Given the description of an element on the screen output the (x, y) to click on. 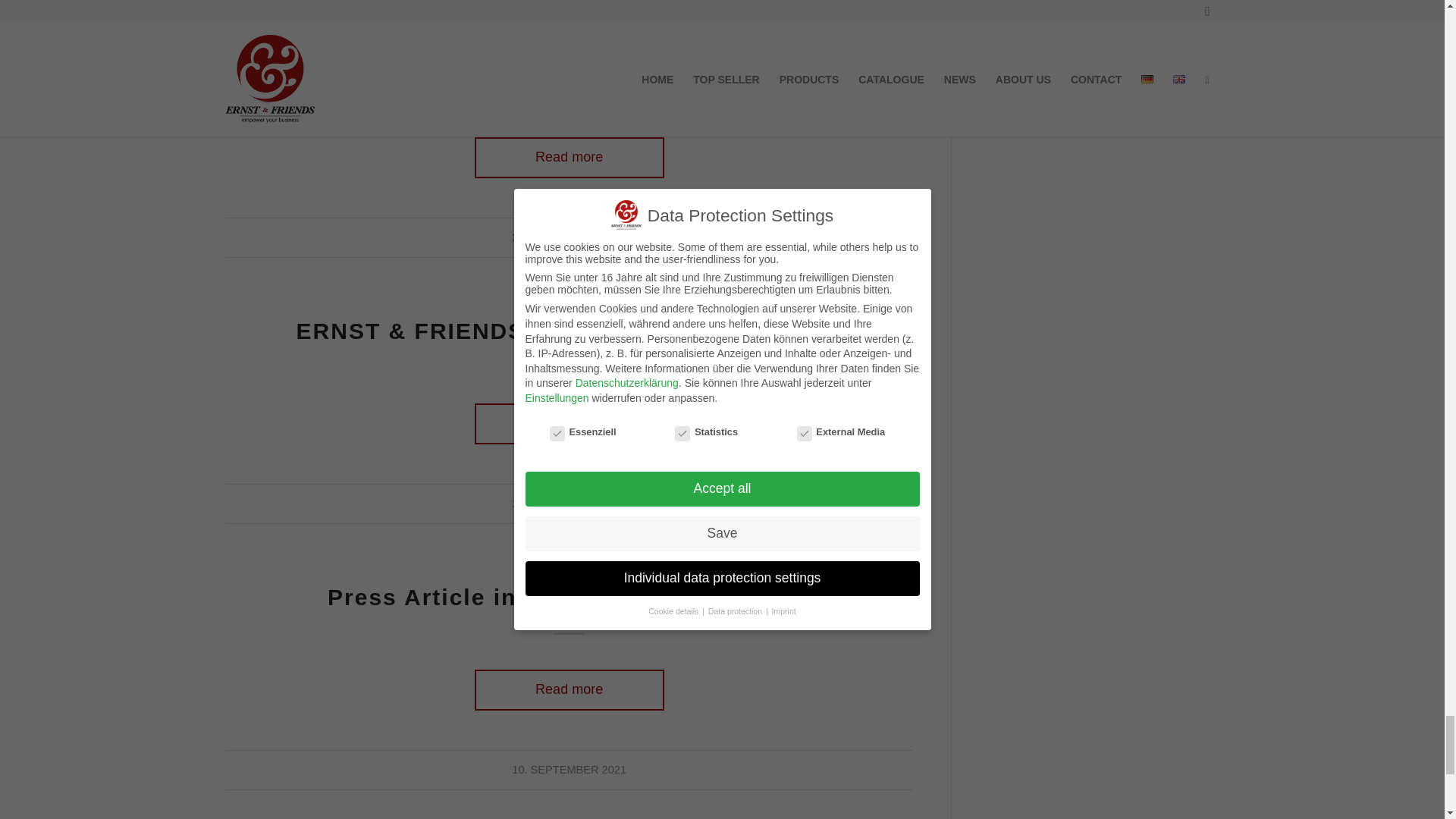
Permanent Link: Press Article in the WatchPro Magazine (568, 596)
